Given the description of an element on the screen output the (x, y) to click on. 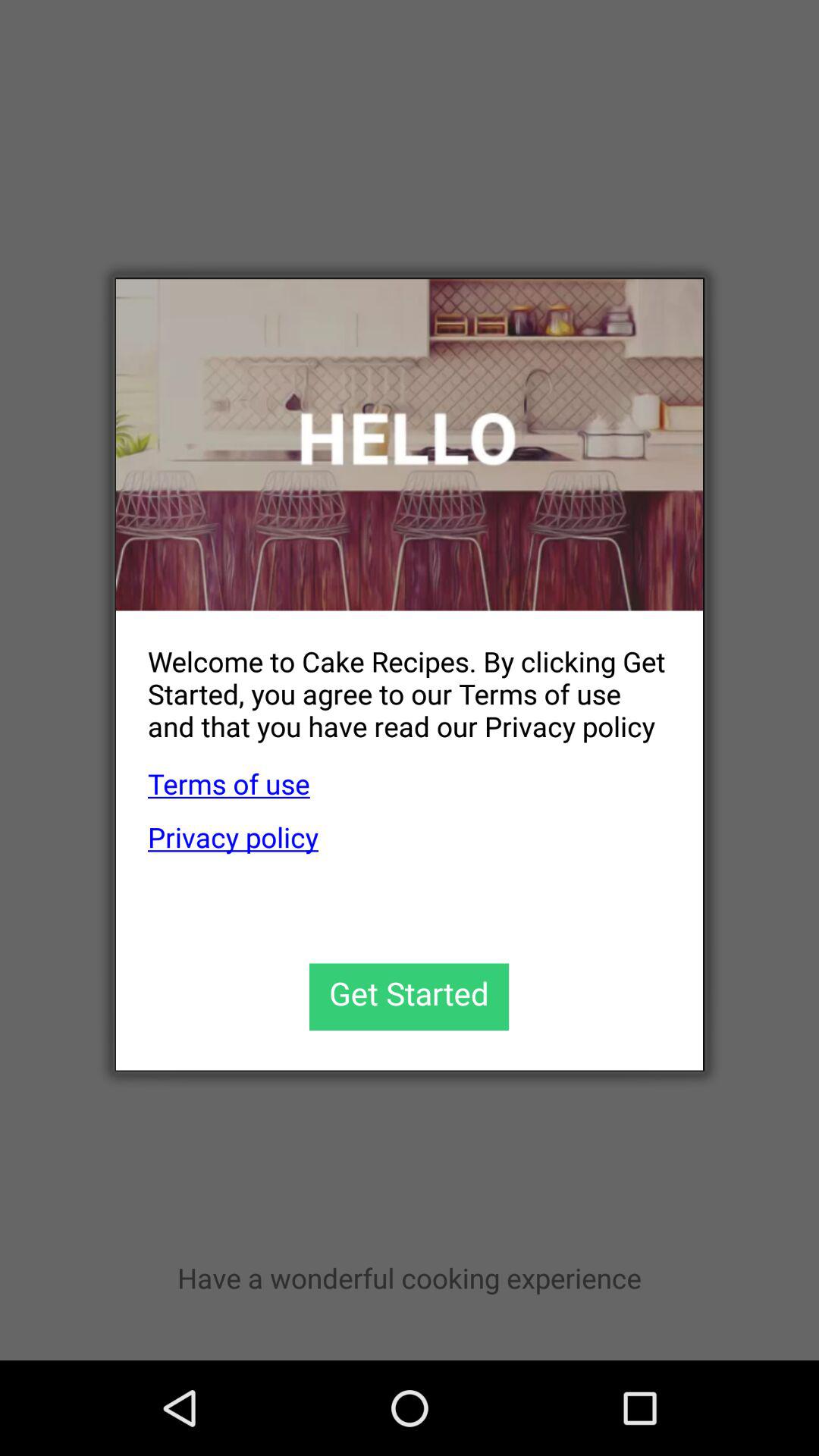
launch the icon above the terms of use item (393, 681)
